Given the description of an element on the screen output the (x, y) to click on. 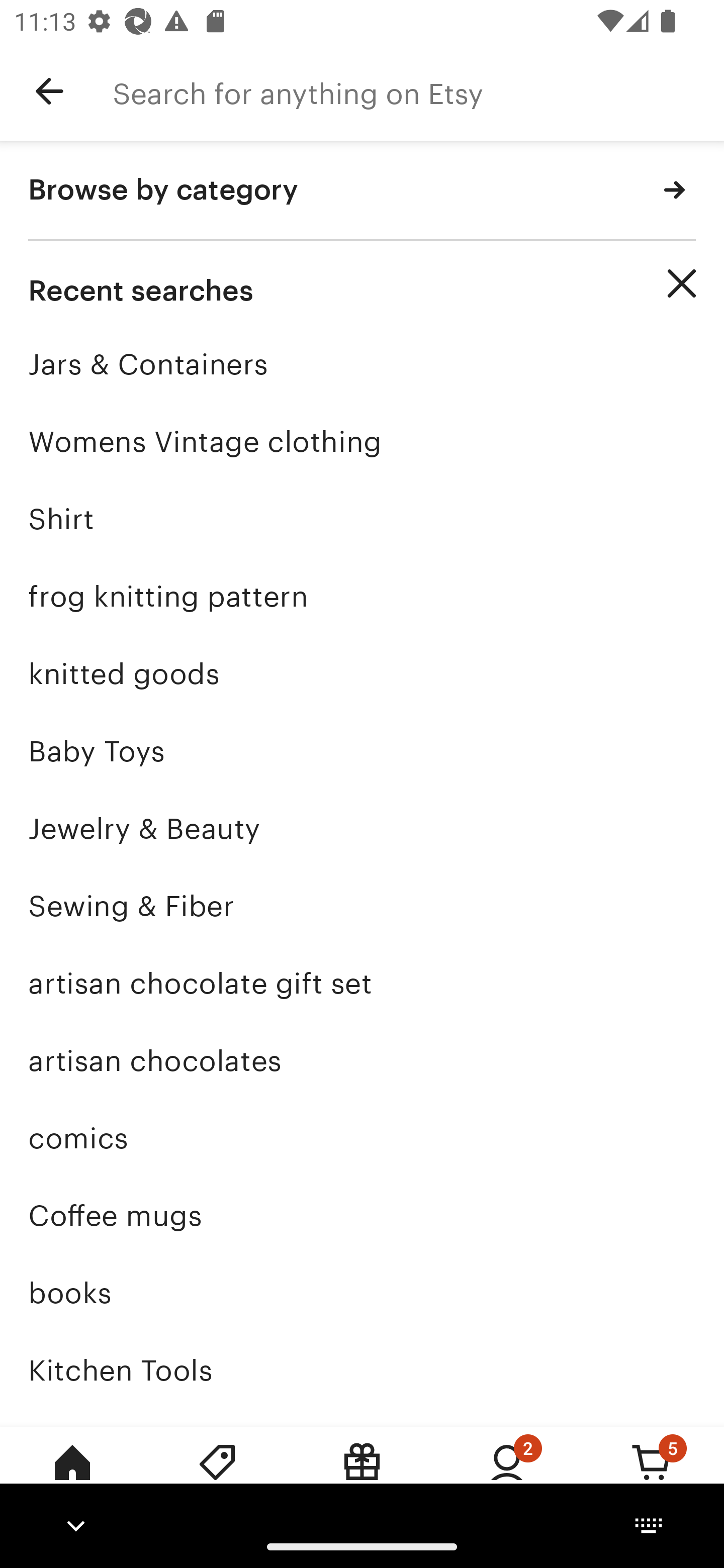
Navigate up (49, 91)
Search for anything on Etsy (418, 91)
Browse by category (362, 191)
Clear (681, 283)
Jars & Containers (362, 364)
Womens Vintage clothing (362, 440)
Shirt (362, 518)
frog knitting pattern (362, 596)
knitted goods (362, 673)
Baby Toys (362, 750)
Jewelry & Beauty (362, 828)
Sewing & Fiber (362, 906)
artisan chocolate gift set (362, 983)
artisan chocolates (362, 1060)
comics (362, 1138)
Coffee mugs (362, 1215)
books (362, 1292)
Kitchen Tools (362, 1370)
Deals (216, 1475)
Gift Mode (361, 1475)
You, 2 new notifications (506, 1475)
Cart, 5 new notifications (651, 1475)
